Given the description of an element on the screen output the (x, y) to click on. 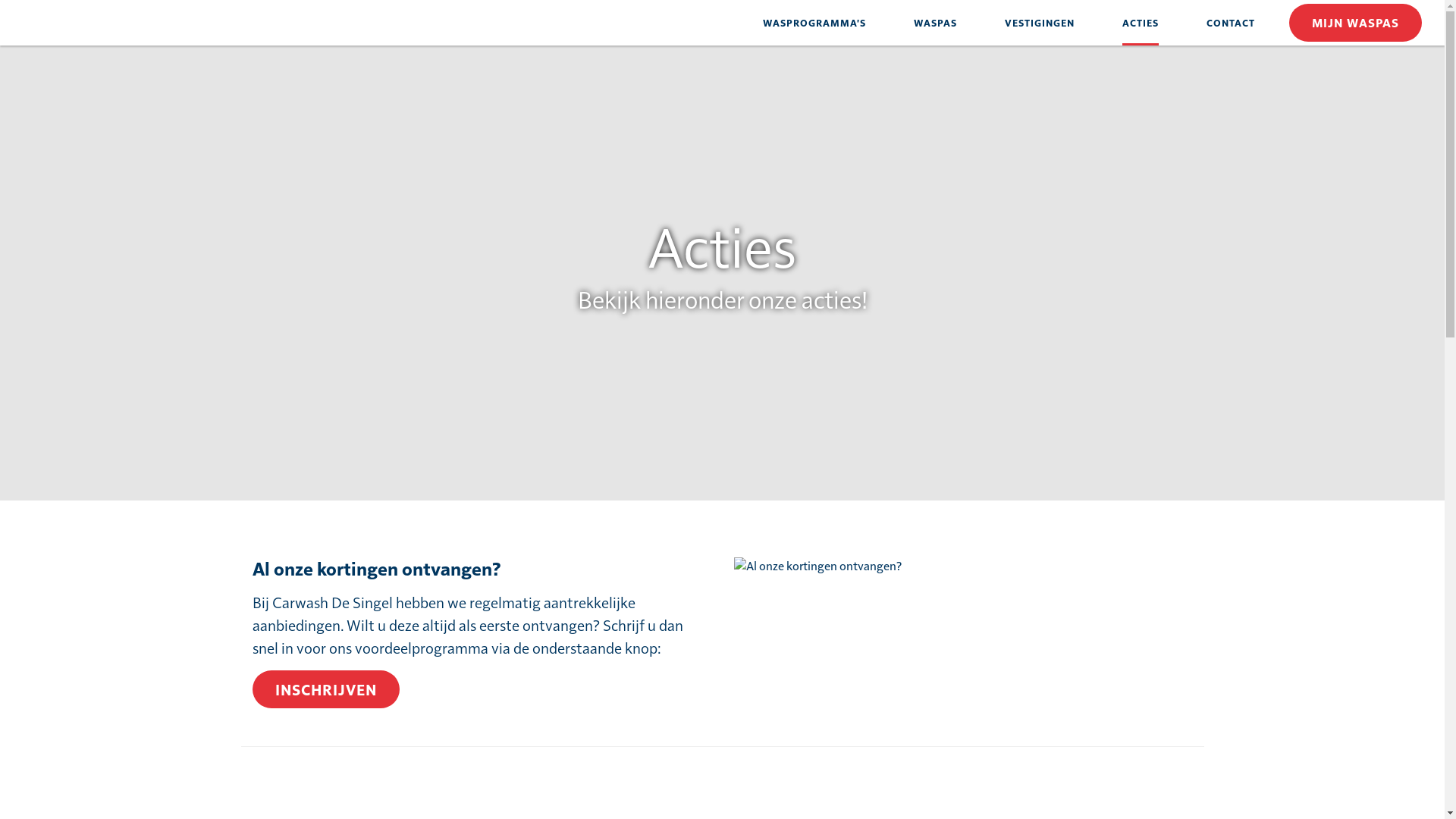
VESTIGINGEN Element type: text (1039, 22)
INSCHRIJVEN Element type: text (324, 689)
CONTACT Element type: text (1230, 22)
WASPROGRAMMA'S Element type: text (814, 22)
MIJN WASPAS Element type: text (1355, 22)
WASPAS Element type: text (935, 22)
ACTIES Element type: text (1140, 22)
